Given the description of an element on the screen output the (x, y) to click on. 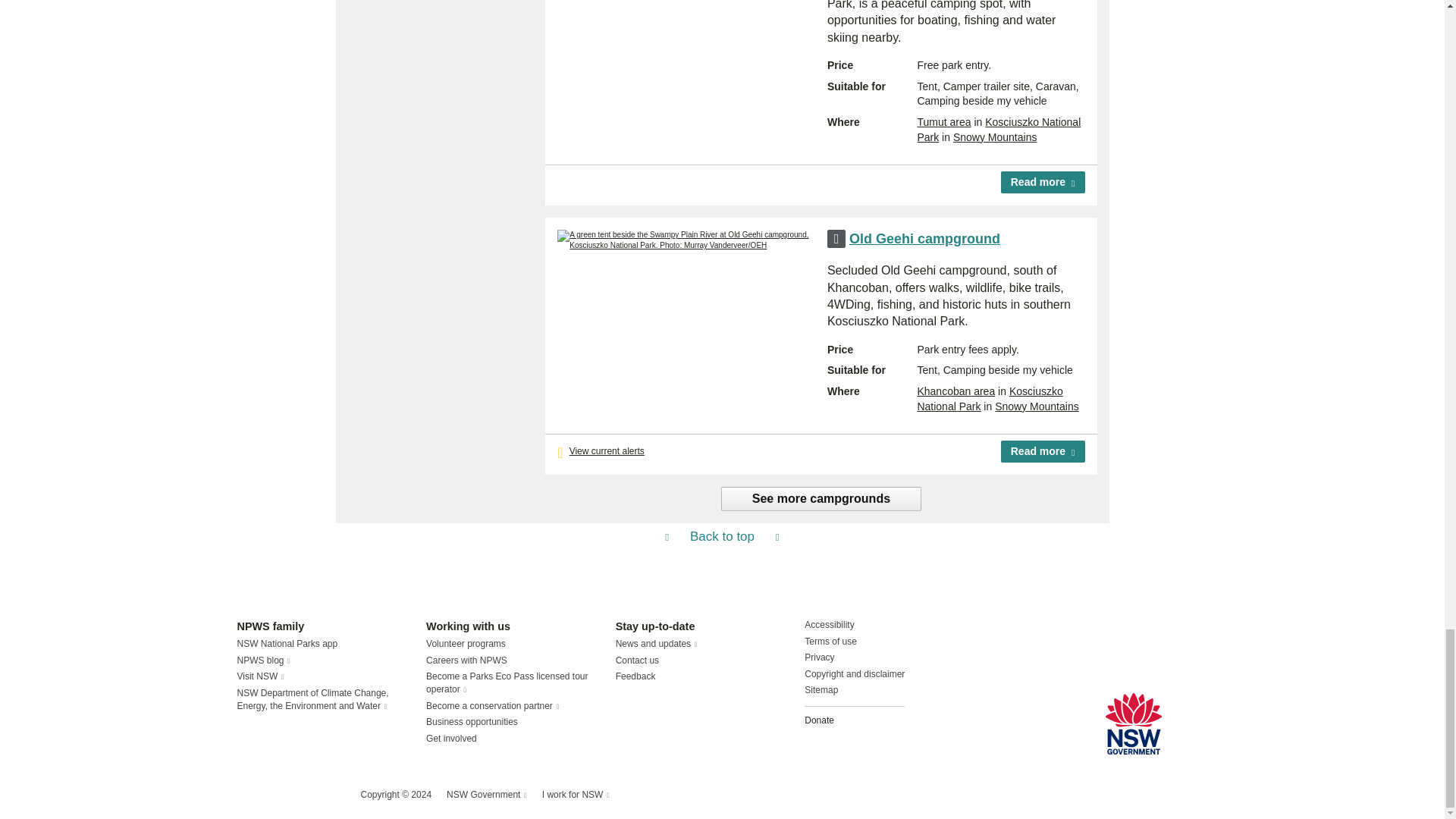
Visit NSW National Parks on Youtube (315, 795)
New South Wales Government (1133, 723)
Visit NSW National Parks on Instagram (283, 795)
Visit NSW National Parks on Facebook (249, 795)
